Given the description of an element on the screen output the (x, y) to click on. 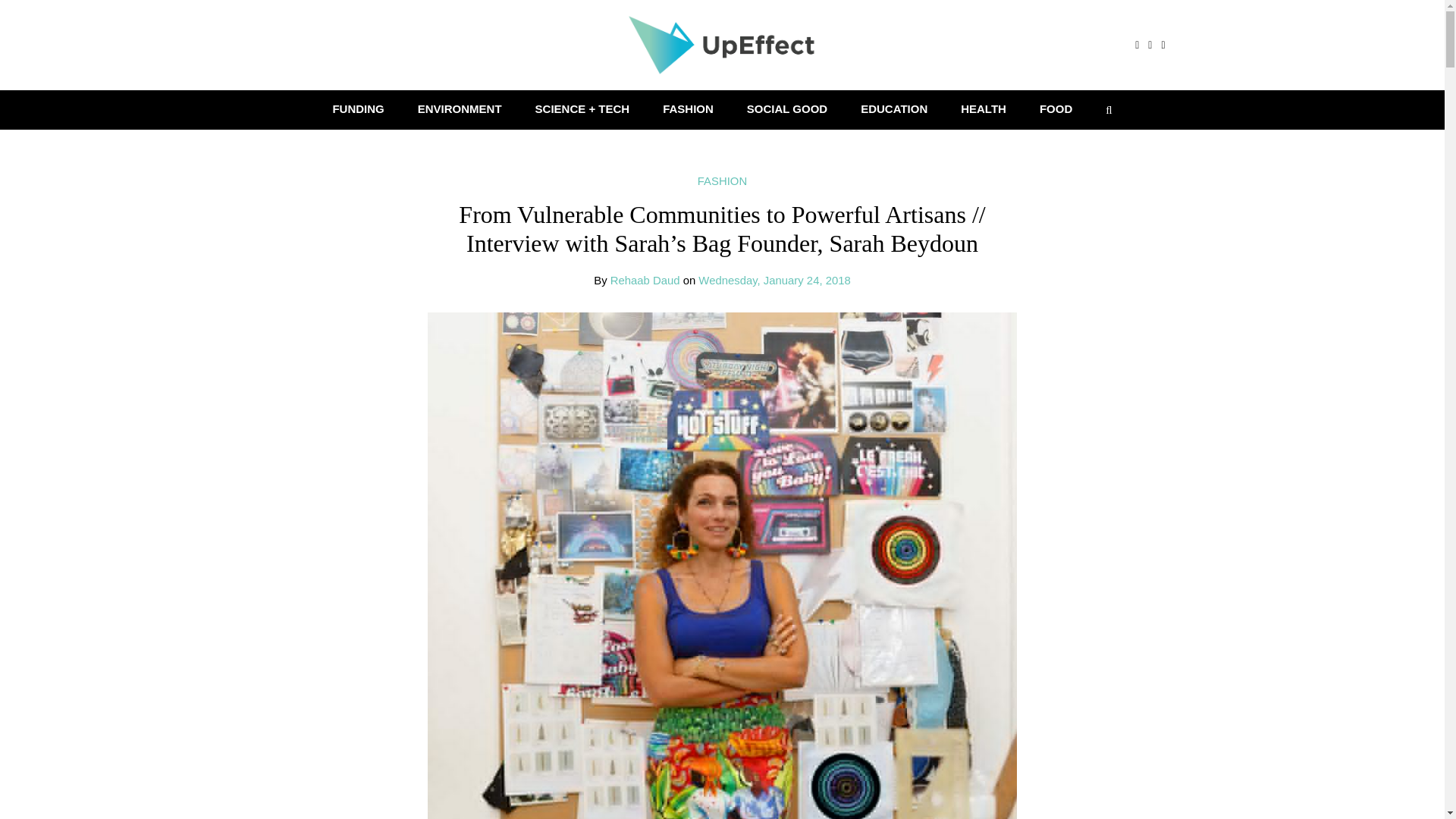
Rehaab Daud (644, 280)
HEALTH (983, 108)
Posts by Rehaab Daud (644, 280)
EDUCATION (893, 108)
FUNDING (357, 108)
ENVIRONMENT (459, 108)
Wednesday, January 24, 2018 (774, 280)
FASHION (688, 108)
FASHION (721, 181)
SOCIAL GOOD (787, 108)
FOOD (1056, 108)
